Given the description of an element on the screen output the (x, y) to click on. 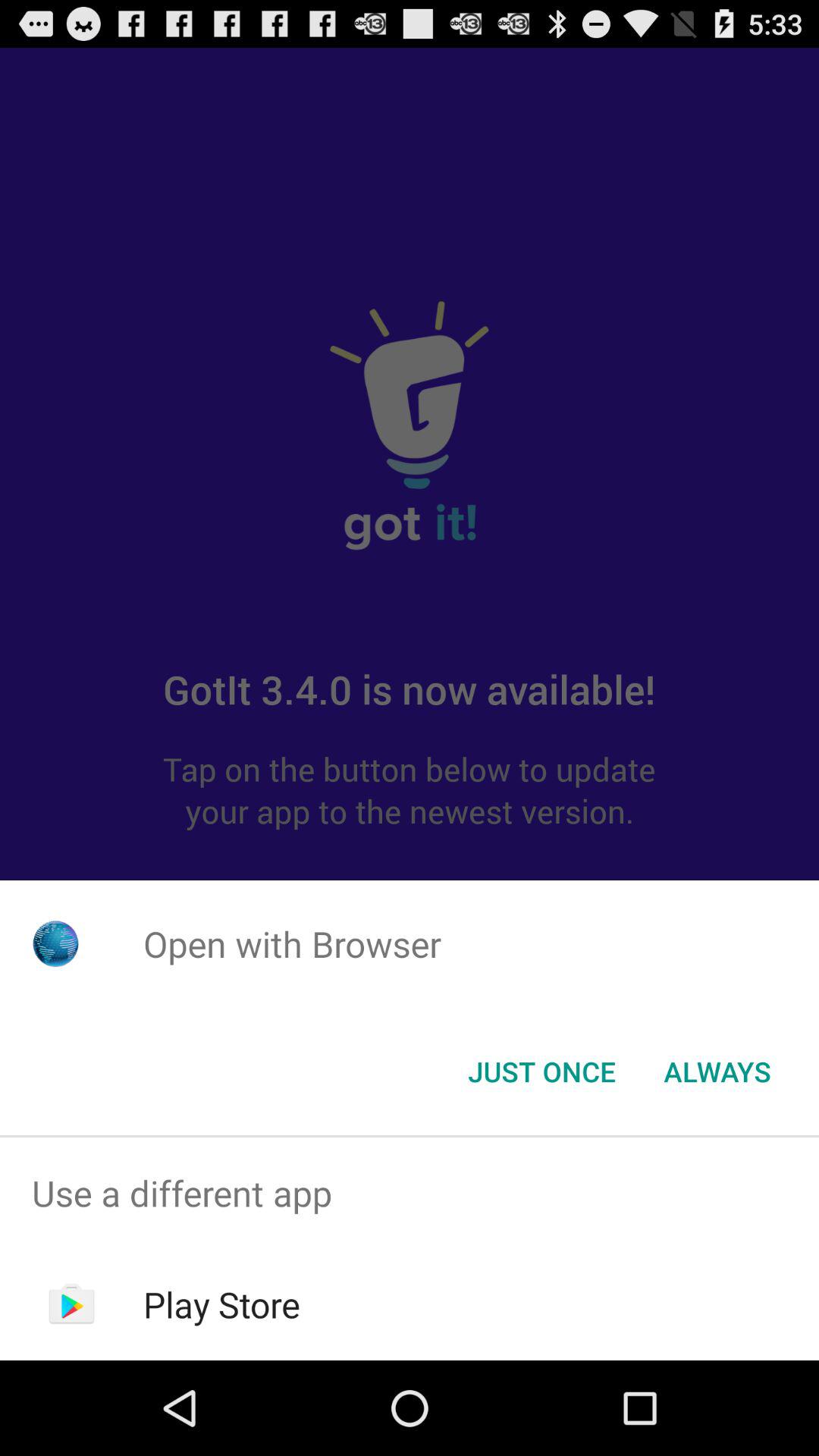
turn on always icon (717, 1071)
